Given the description of an element on the screen output the (x, y) to click on. 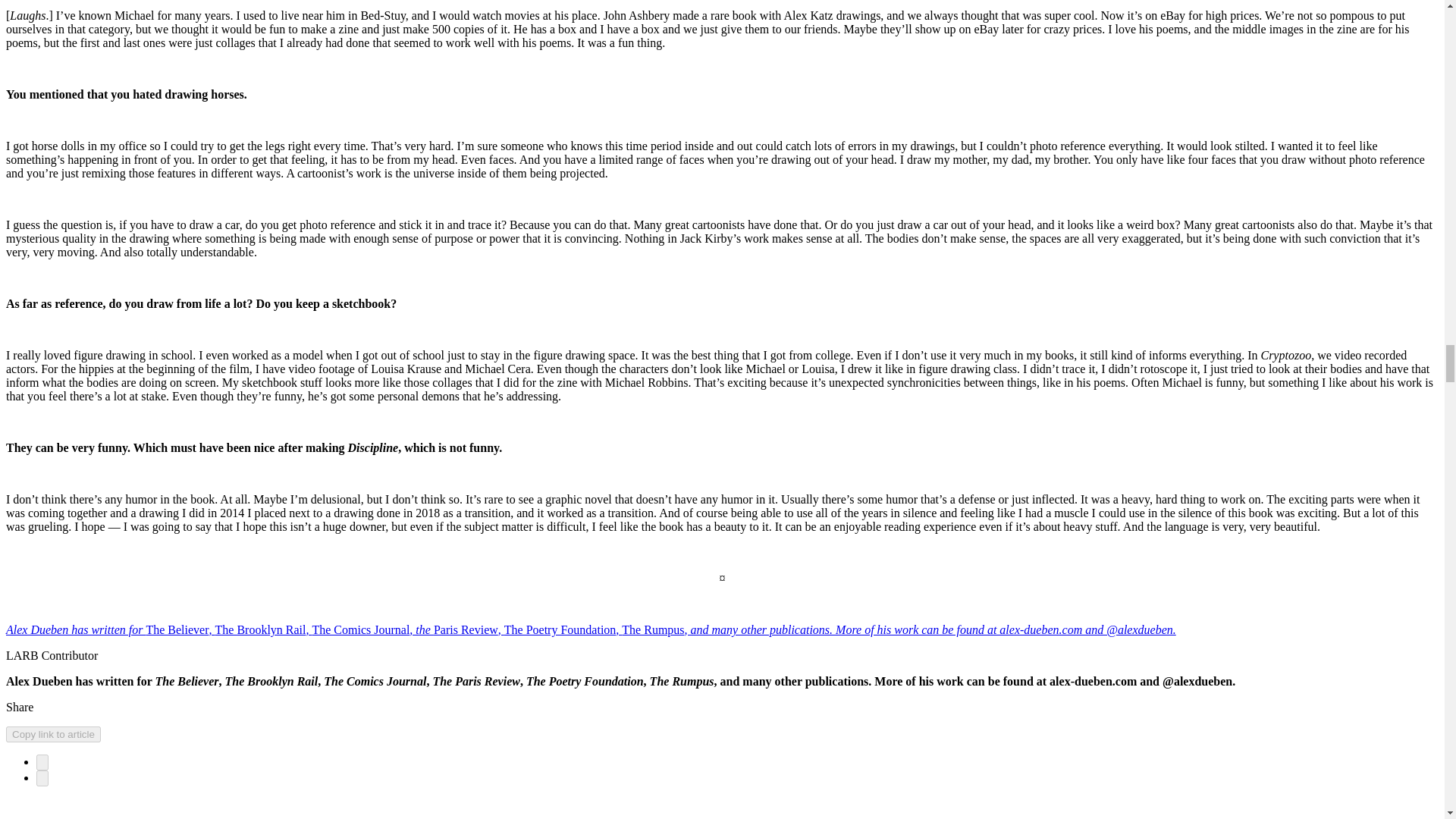
Copy link to article (52, 734)
Share on facebook (42, 762)
Share on twitter (42, 778)
